Given the description of an element on the screen output the (x, y) to click on. 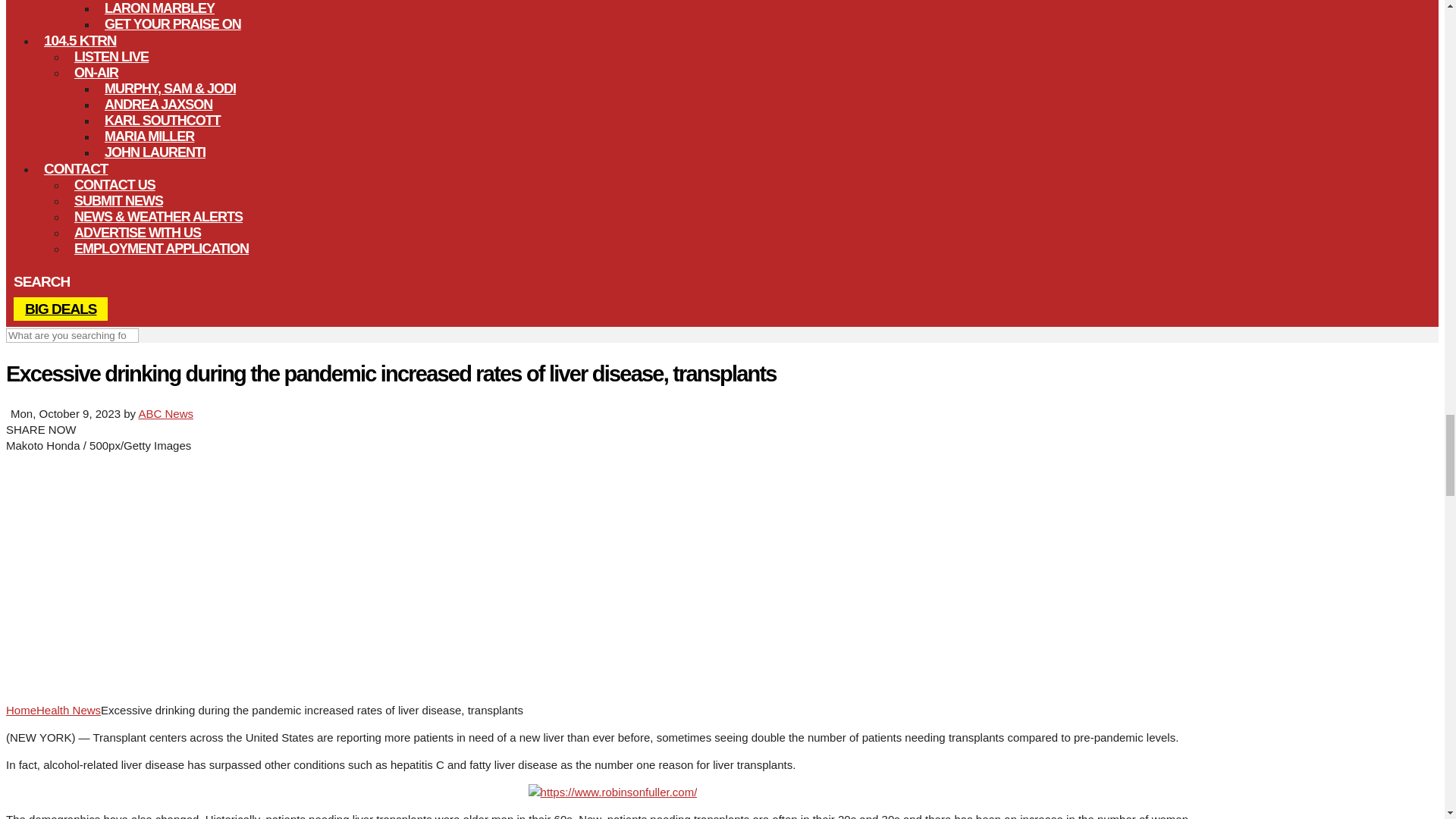
Search for: (71, 335)
Posts by ABC News (165, 413)
